Given the description of an element on the screen output the (x, y) to click on. 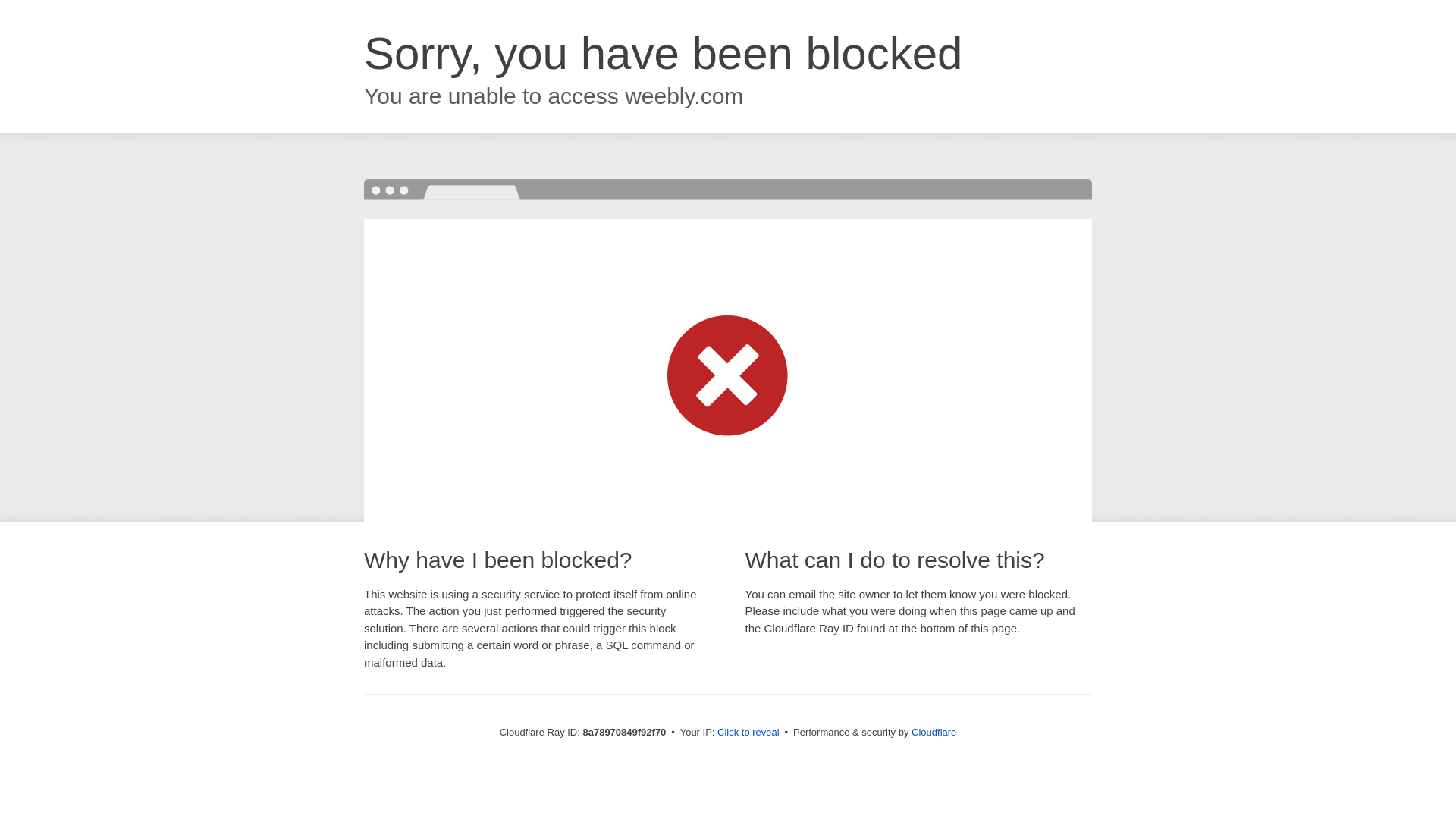
Click to reveal (747, 732)
Cloudflare (933, 731)
